Given the description of an element on the screen output the (x, y) to click on. 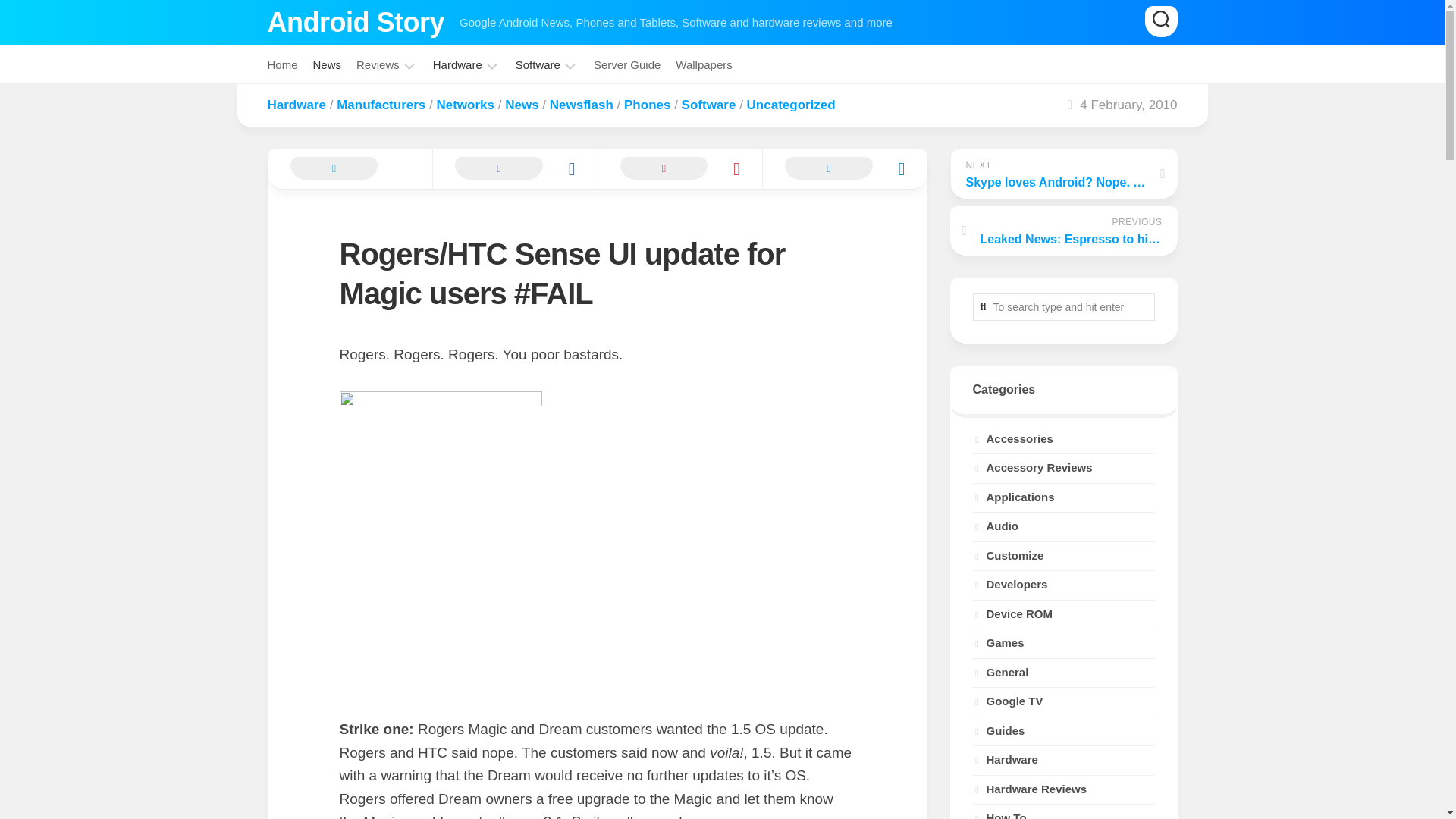
Server Guide (627, 64)
To search type and hit enter (1063, 307)
Home (281, 64)
Share on X (349, 169)
Software (537, 64)
Share on LinkedIn (844, 169)
Wallpapers (703, 64)
Reviews (377, 64)
Share on Facebook (514, 169)
Hardware (456, 64)
